Given the description of an element on the screen output the (x, y) to click on. 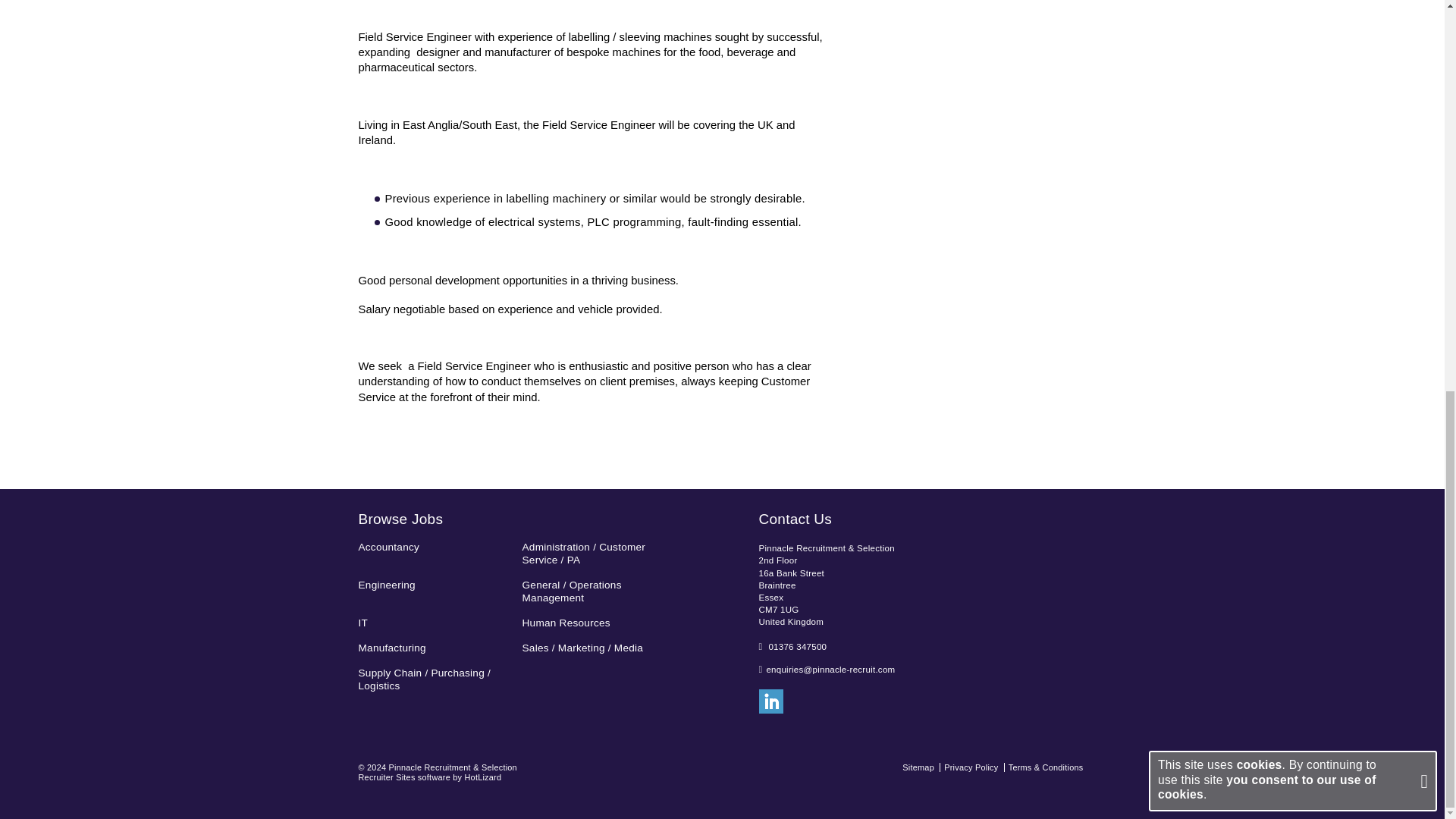
IT (435, 623)
Follow us on LinkedIn (770, 701)
Human Resources (599, 623)
Sitemap (918, 767)
Privacy Policy (970, 767)
01376 347500 (797, 646)
Engineering (435, 585)
Accountancy (435, 547)
Human Resources (599, 623)
Engineering (435, 585)
